Given the description of an element on the screen output the (x, y) to click on. 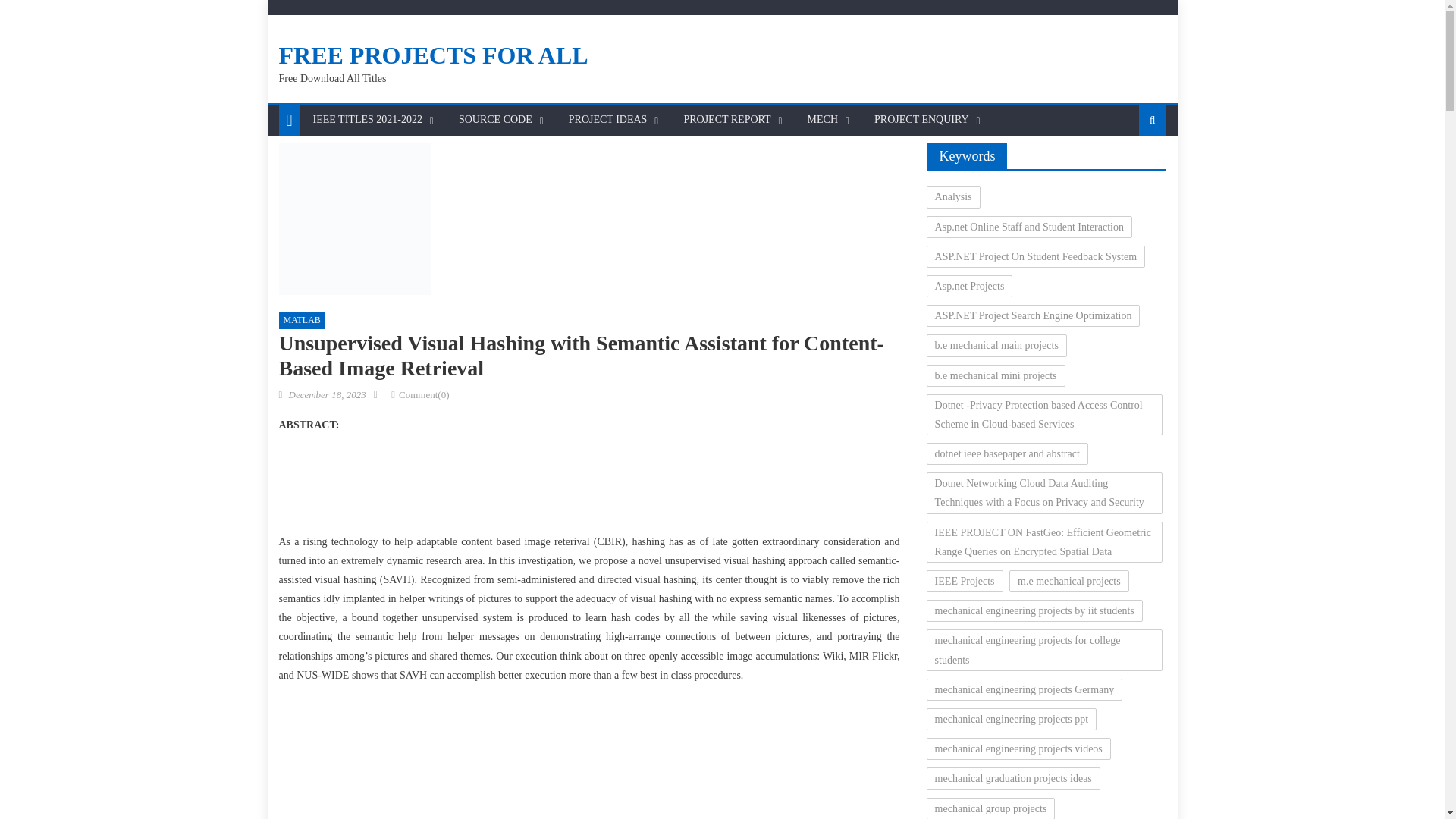
FREE PROJECTS FOR ALL (433, 54)
PROJECT IDEAS (608, 119)
Advertisement (588, 487)
SOURCE CODE (494, 119)
PROJECT REPORT (726, 119)
IEEE TITLES 2021-2022 (367, 119)
Advertisement (589, 776)
